Given the description of an element on the screen output the (x, y) to click on. 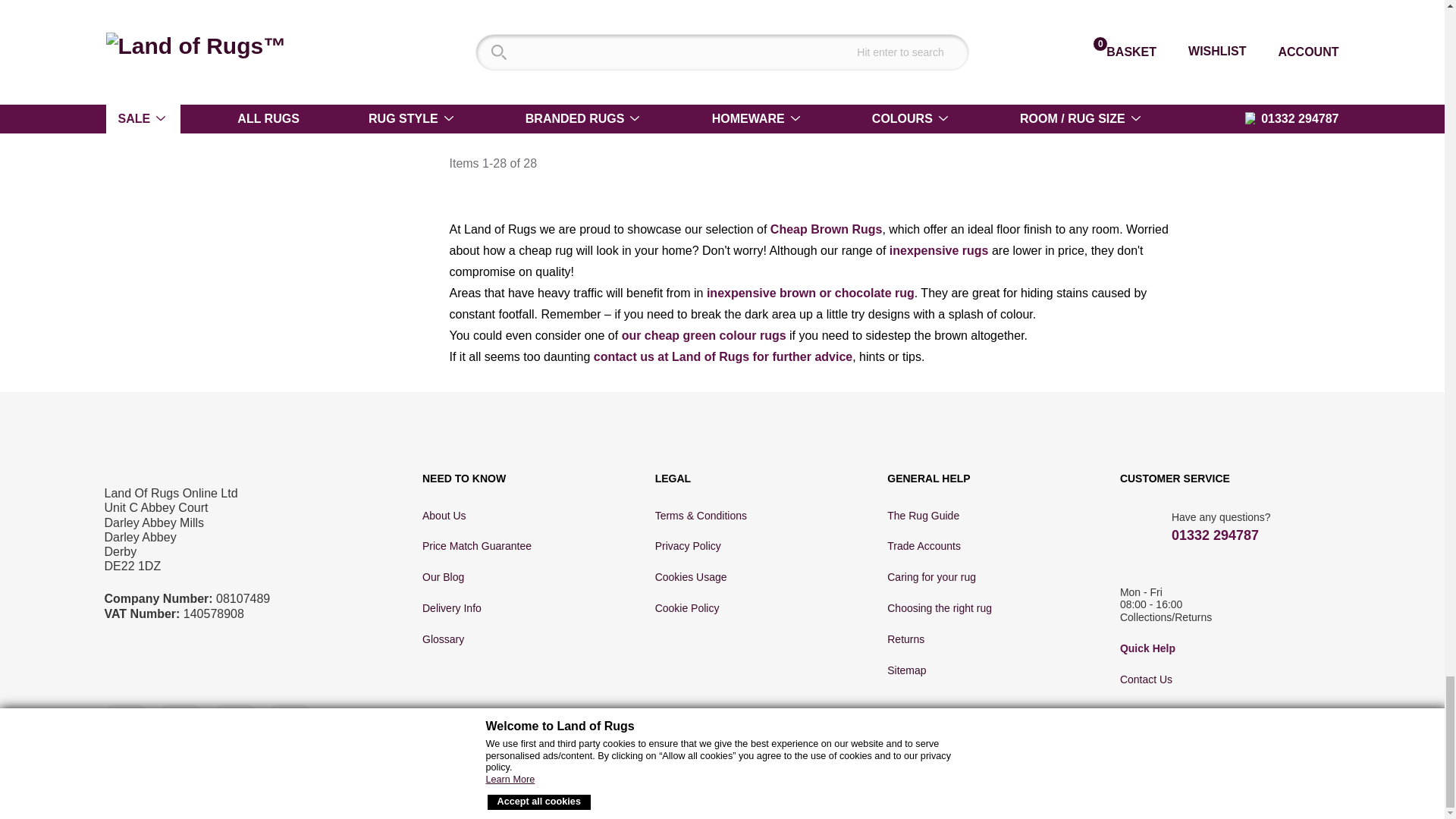
Amazon Pay (1065, 787)
American Express (988, 790)
Visa (948, 790)
Klarna (1281, 790)
Google Pay (1184, 790)
Apple Pay (1233, 790)
MasterCard (1016, 790)
PayPal (1128, 788)
